Given the description of an element on the screen output the (x, y) to click on. 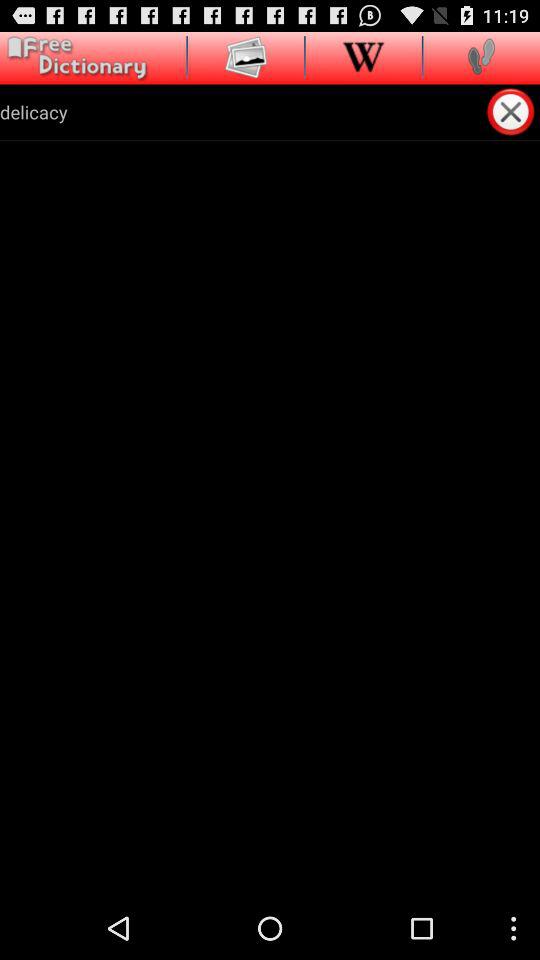
delete word (512, 111)
